Given the description of an element on the screen output the (x, y) to click on. 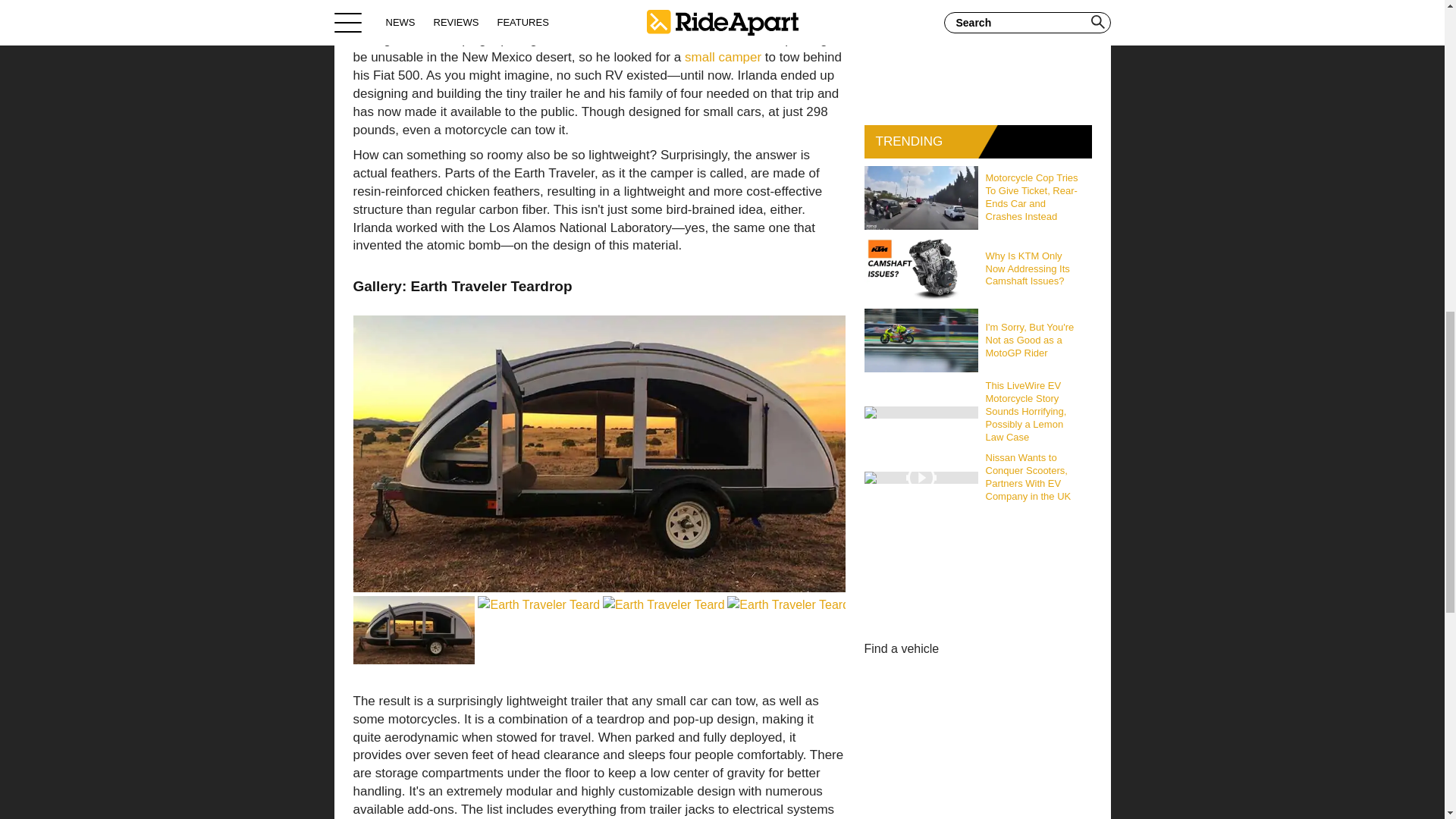
small camper (722, 56)
